Given the description of an element on the screen output the (x, y) to click on. 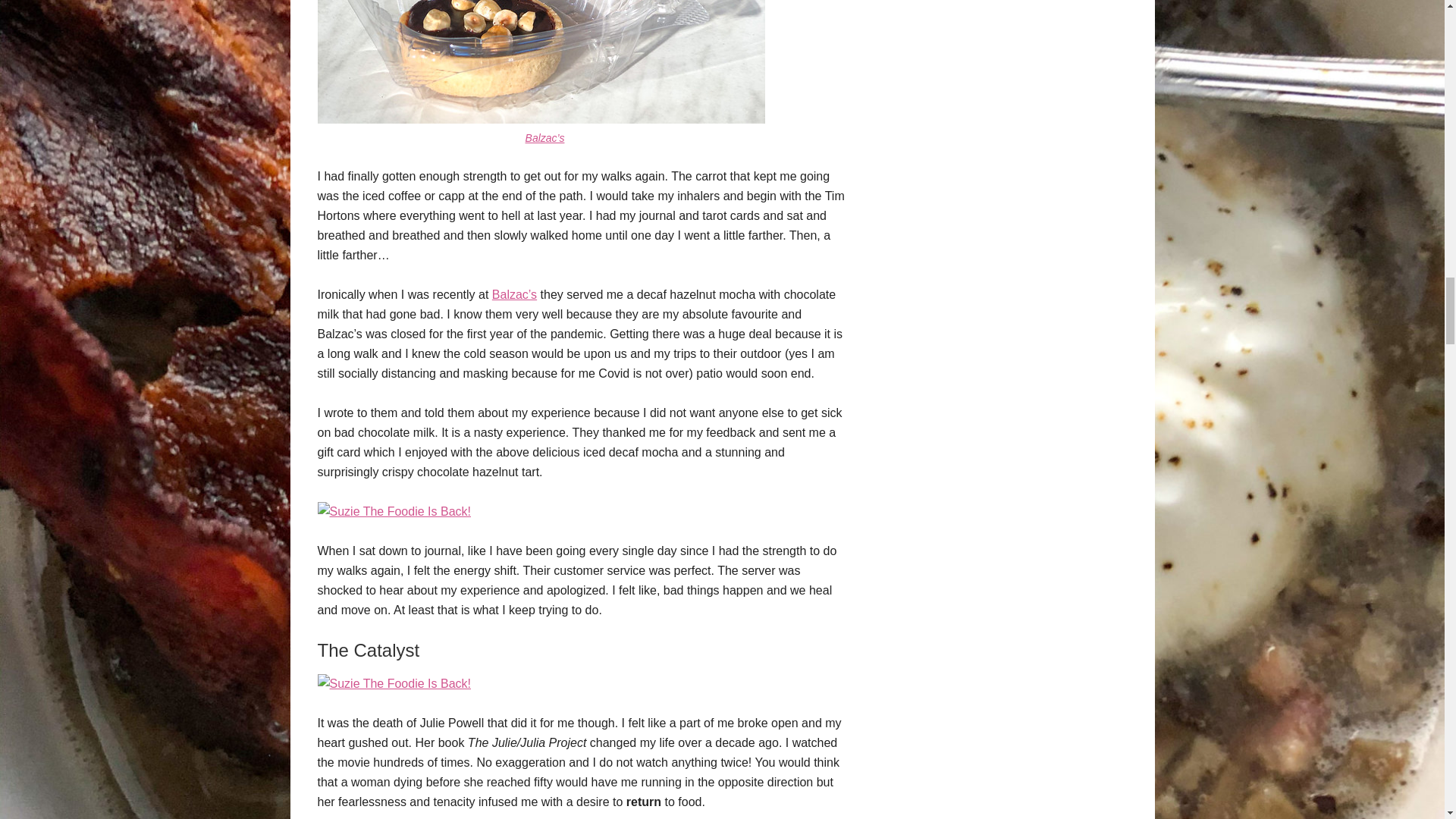
Suzie The Foodie Is Back! (393, 511)
Suzie The Foodie Is Back! (540, 119)
Suzie The Foodie Is Back! (393, 683)
